Given the description of an element on the screen output the (x, y) to click on. 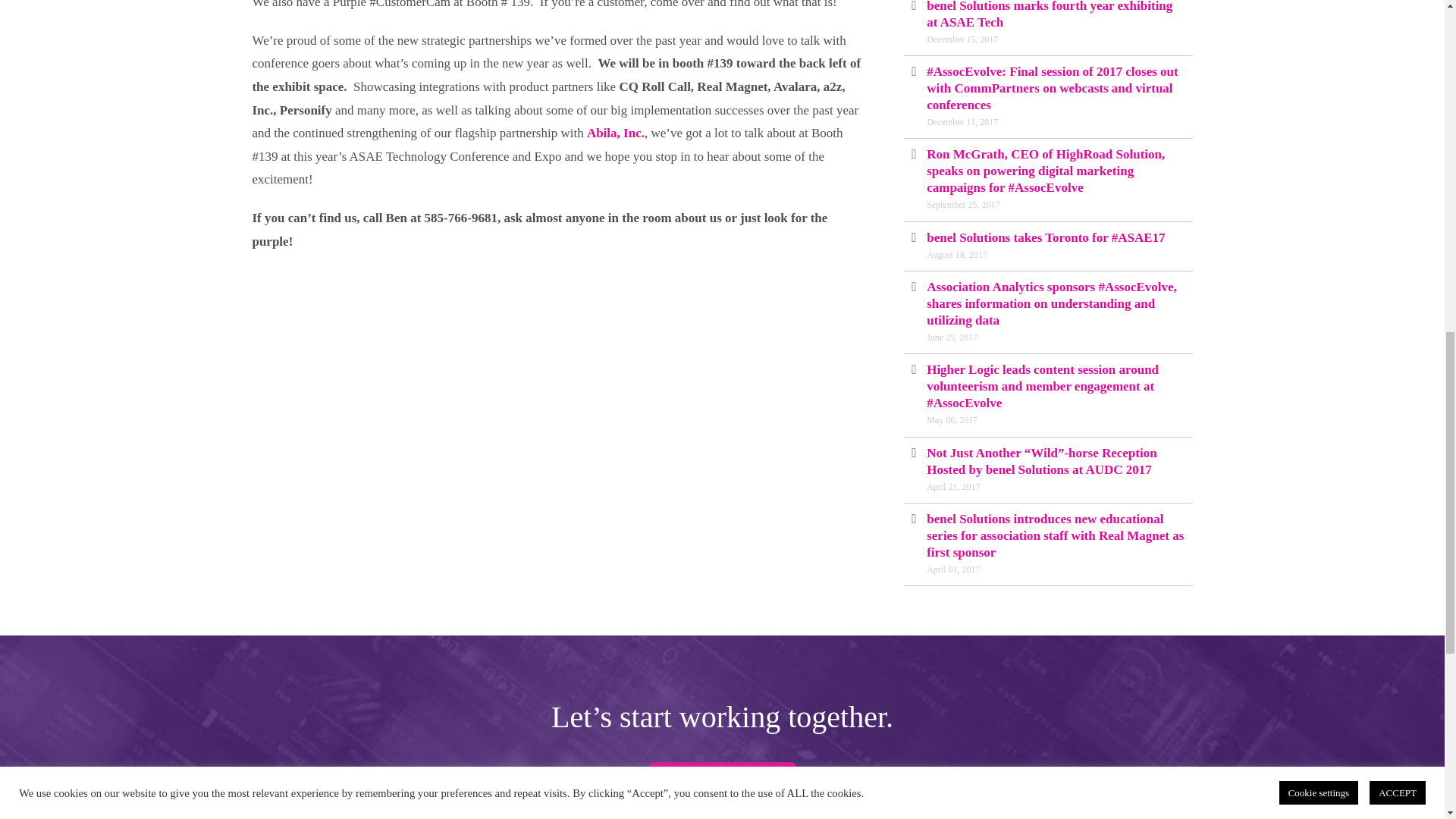
CONTACT US (721, 782)
Abila, Inc. (615, 133)
benel Solutions marks fourth year exhibiting at ASAE Tech (1049, 14)
